Given the description of an element on the screen output the (x, y) to click on. 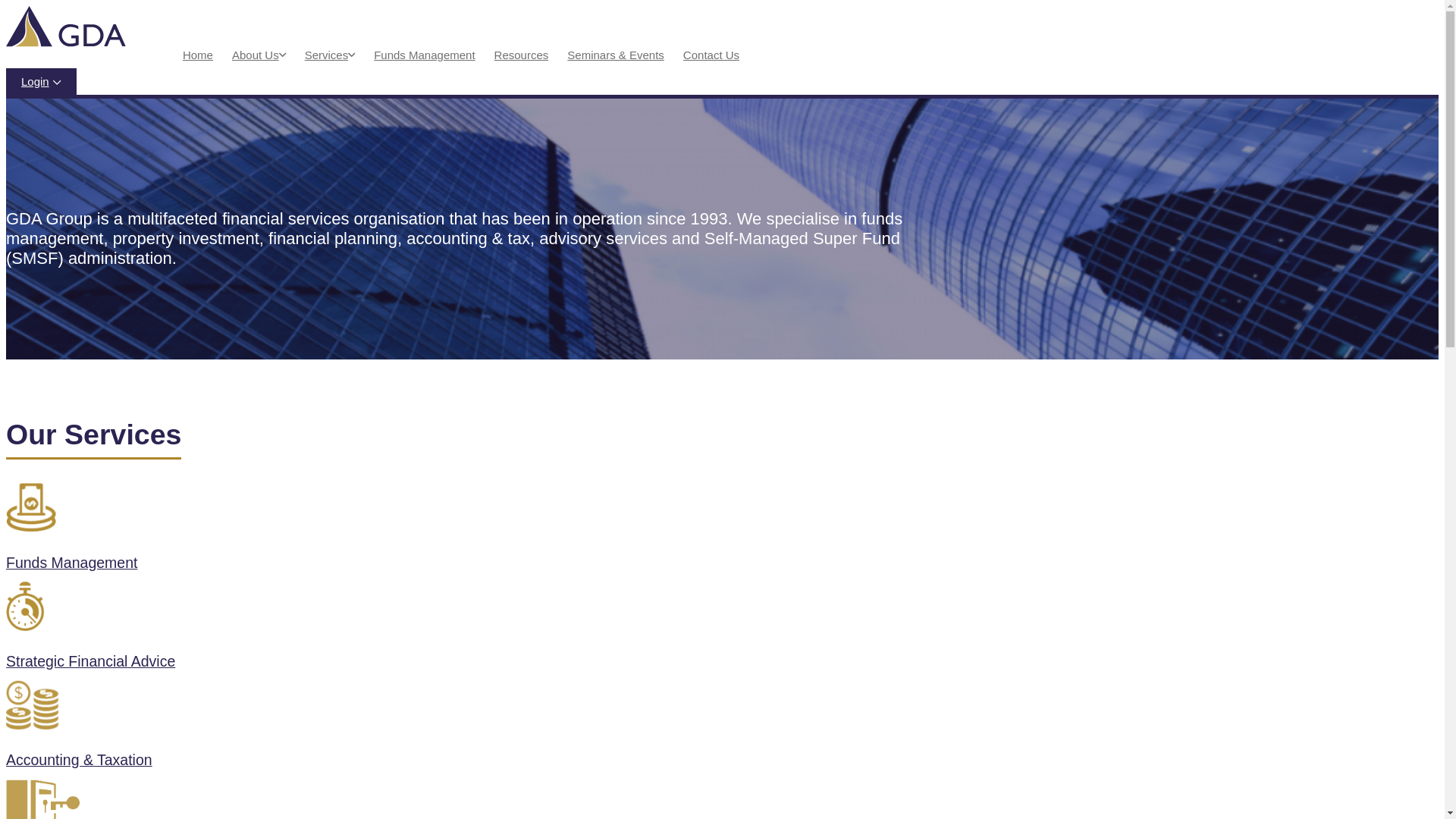
About Us Element type: text (255, 54)
Funds Management Element type: text (423, 54)
Strategic Financial Advice Element type: text (461, 630)
Funds Management Element type: text (461, 532)
Login Element type: text (41, 81)
Home Element type: text (197, 54)
Contact Us Element type: text (711, 54)
Seminars & Events Element type: text (615, 54)
Accounting & Taxation Element type: text (461, 729)
Resources Element type: text (521, 54)
Services Element type: text (326, 54)
